Given the description of an element on the screen output the (x, y) to click on. 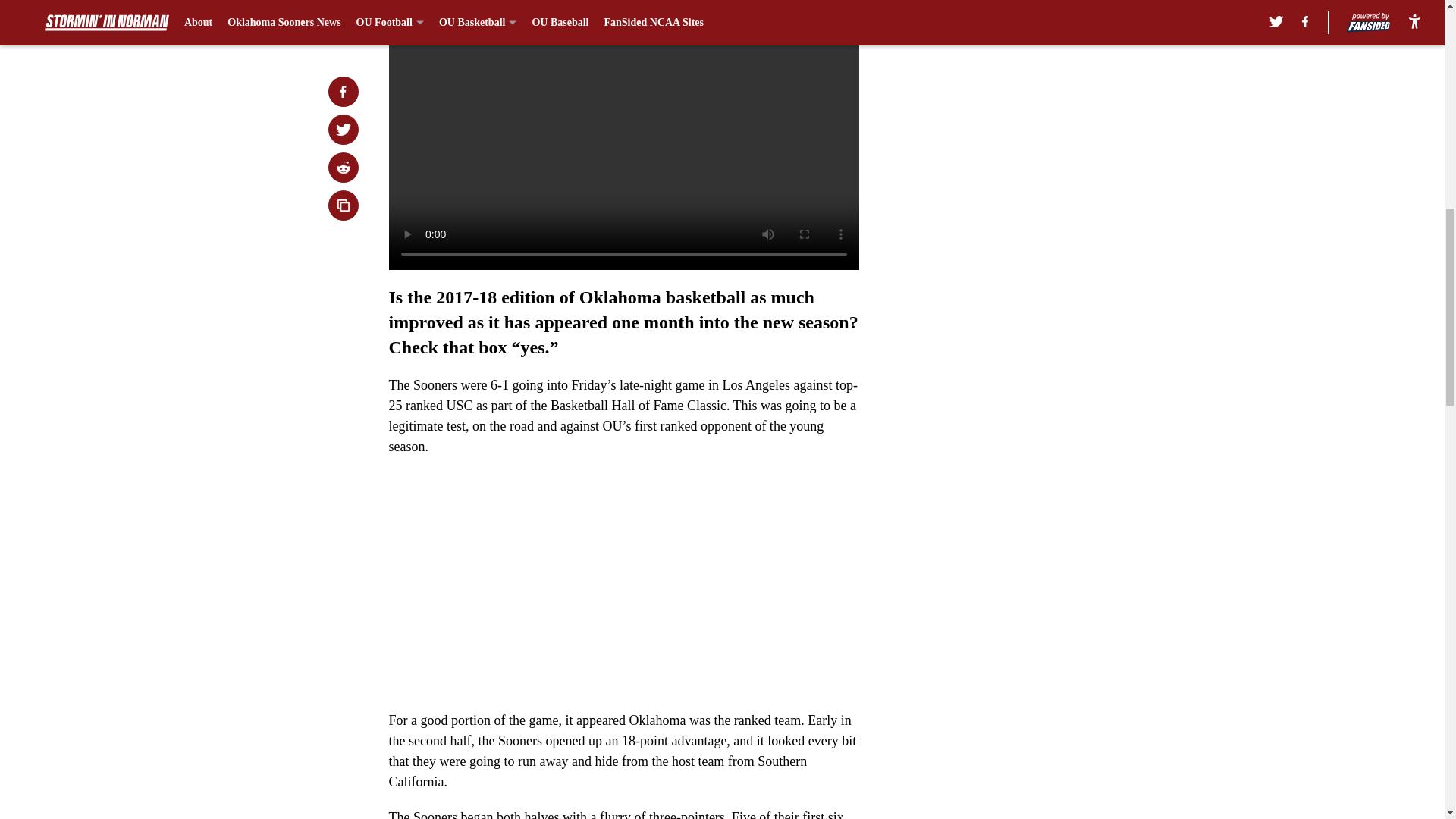
3rd party ad content (1047, 100)
3rd party ad content (1047, 320)
